Given the description of an element on the screen output the (x, y) to click on. 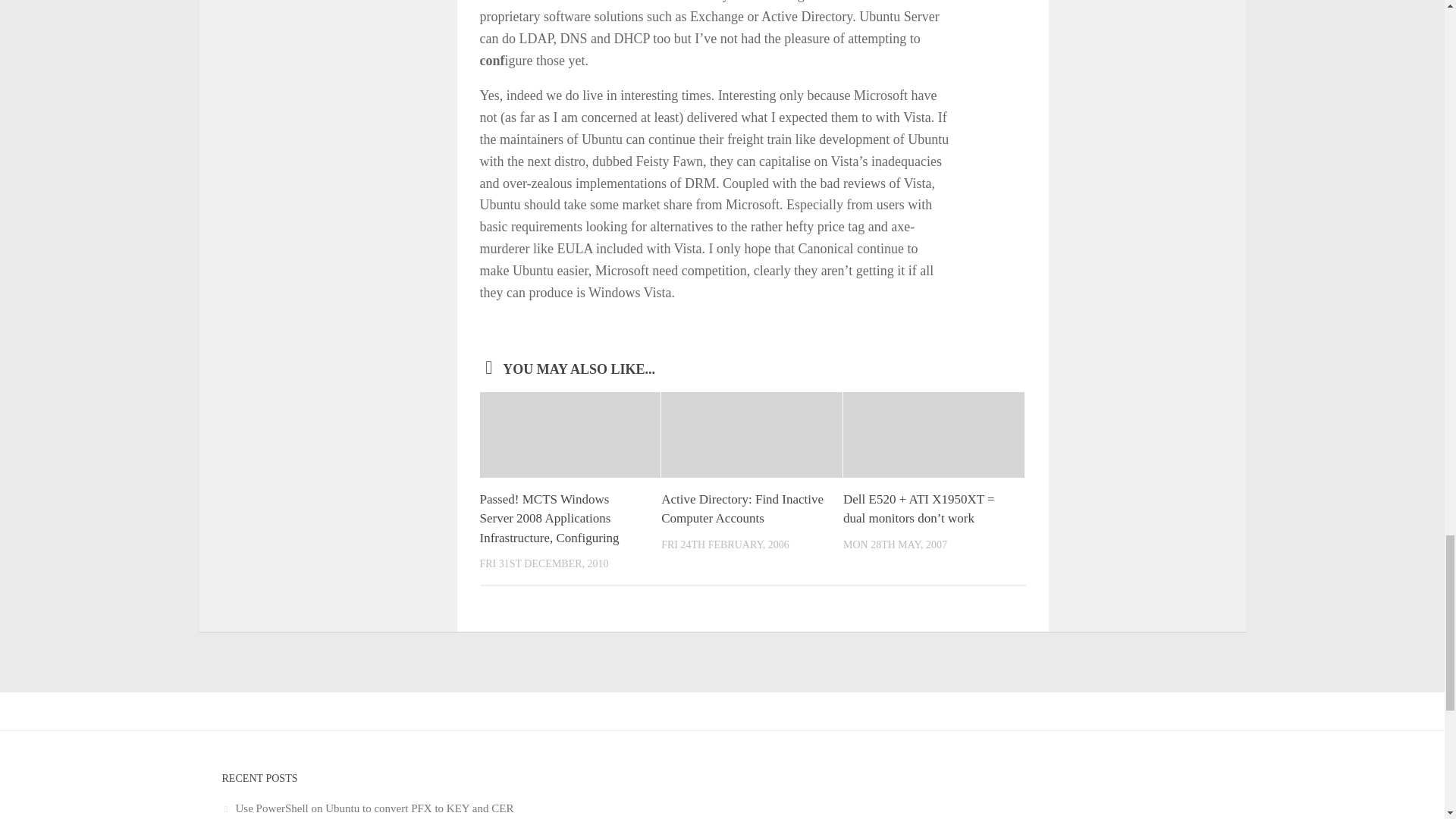
Active Directory: Find Inactive Computer Accounts (742, 509)
